Given the description of an element on the screen output the (x, y) to click on. 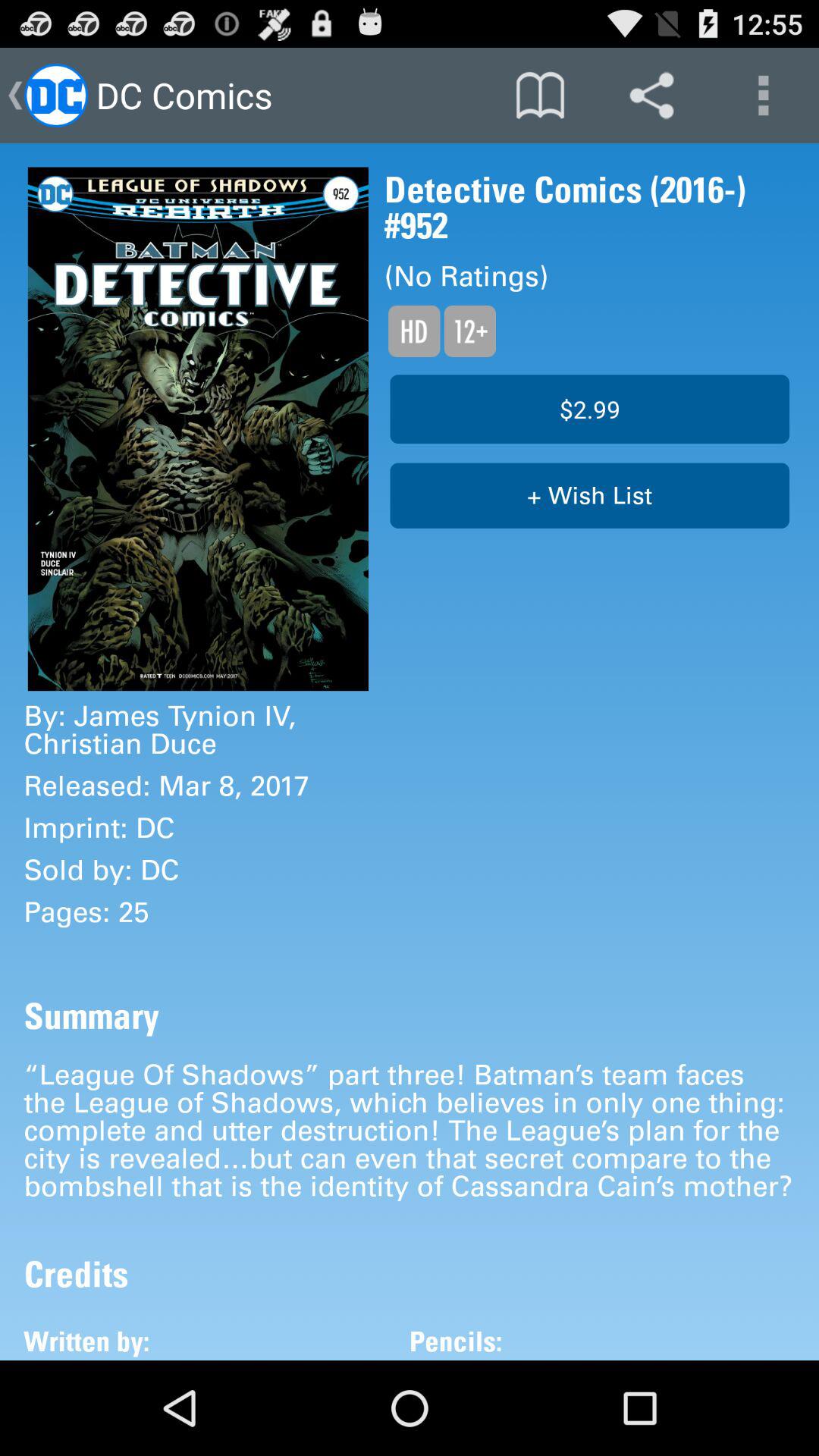
turn off the $2.99 (589, 409)
